Given the description of an element on the screen output the (x, y) to click on. 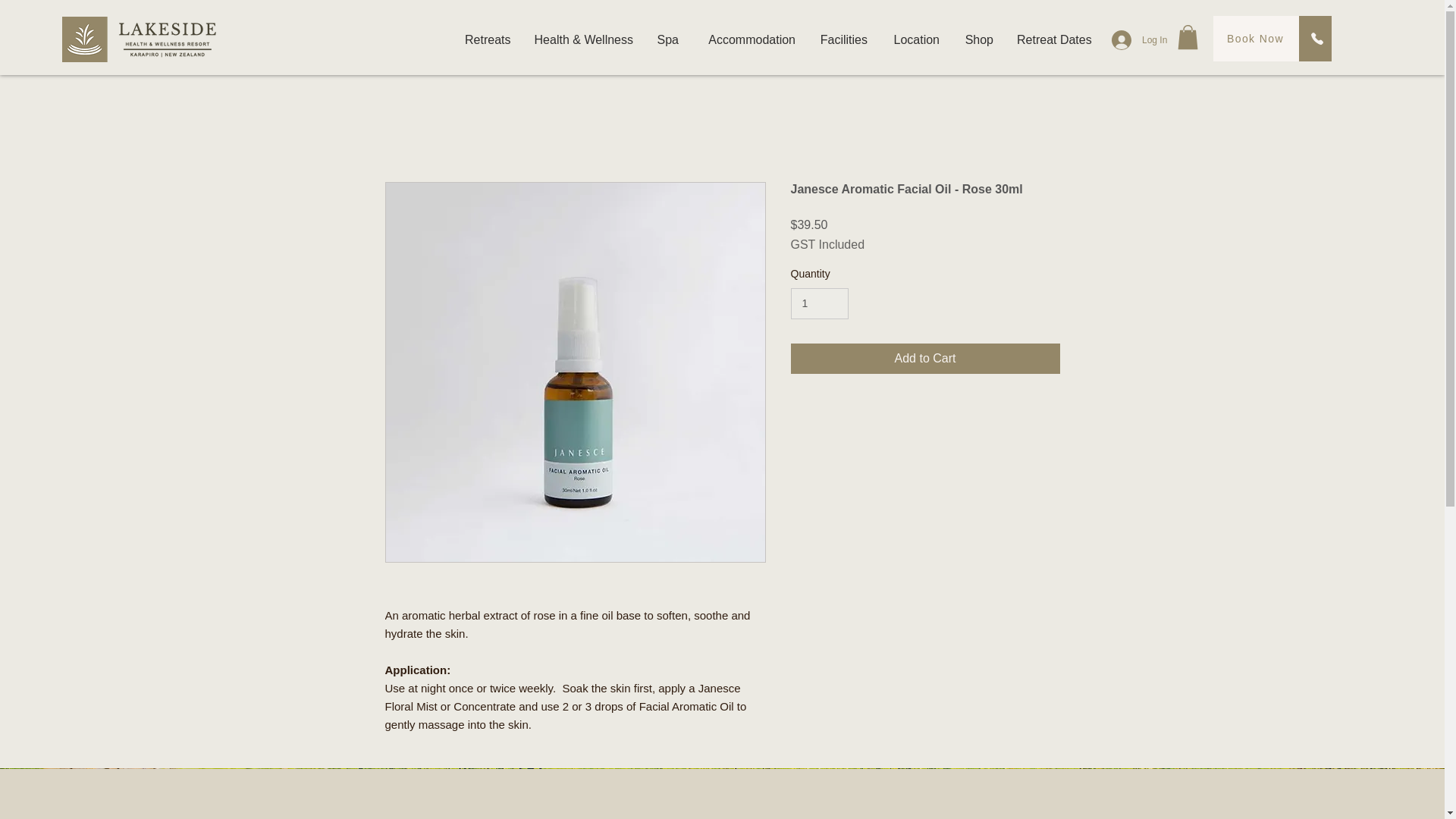
Facilities (843, 39)
Book Now (1255, 38)
1 (818, 303)
Add to Cart (924, 358)
Retreats (486, 39)
Log In (1128, 39)
Location (914, 39)
Retreat Dates (1053, 39)
Accommodation (748, 39)
Spa (667, 39)
